Given the description of an element on the screen output the (x, y) to click on. 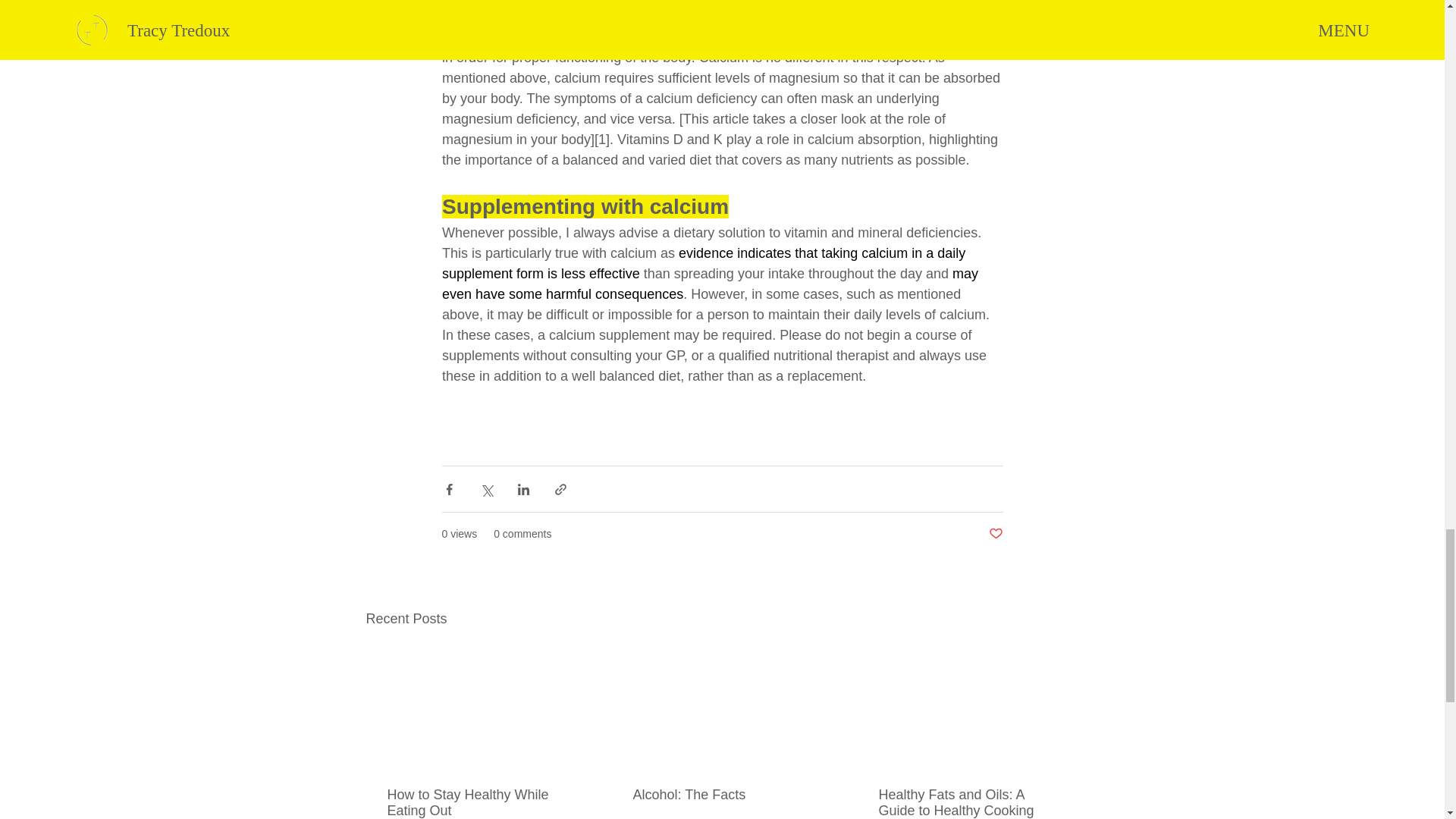
Alcohol: The Facts (720, 795)
may even have some harmful consequences (711, 284)
Post not marked as liked (995, 534)
How to Stay Healthy While Eating Out (475, 803)
Healthy Fats and Oils: A Guide to Healthy Cooking (966, 803)
